Given the description of an element on the screen output the (x, y) to click on. 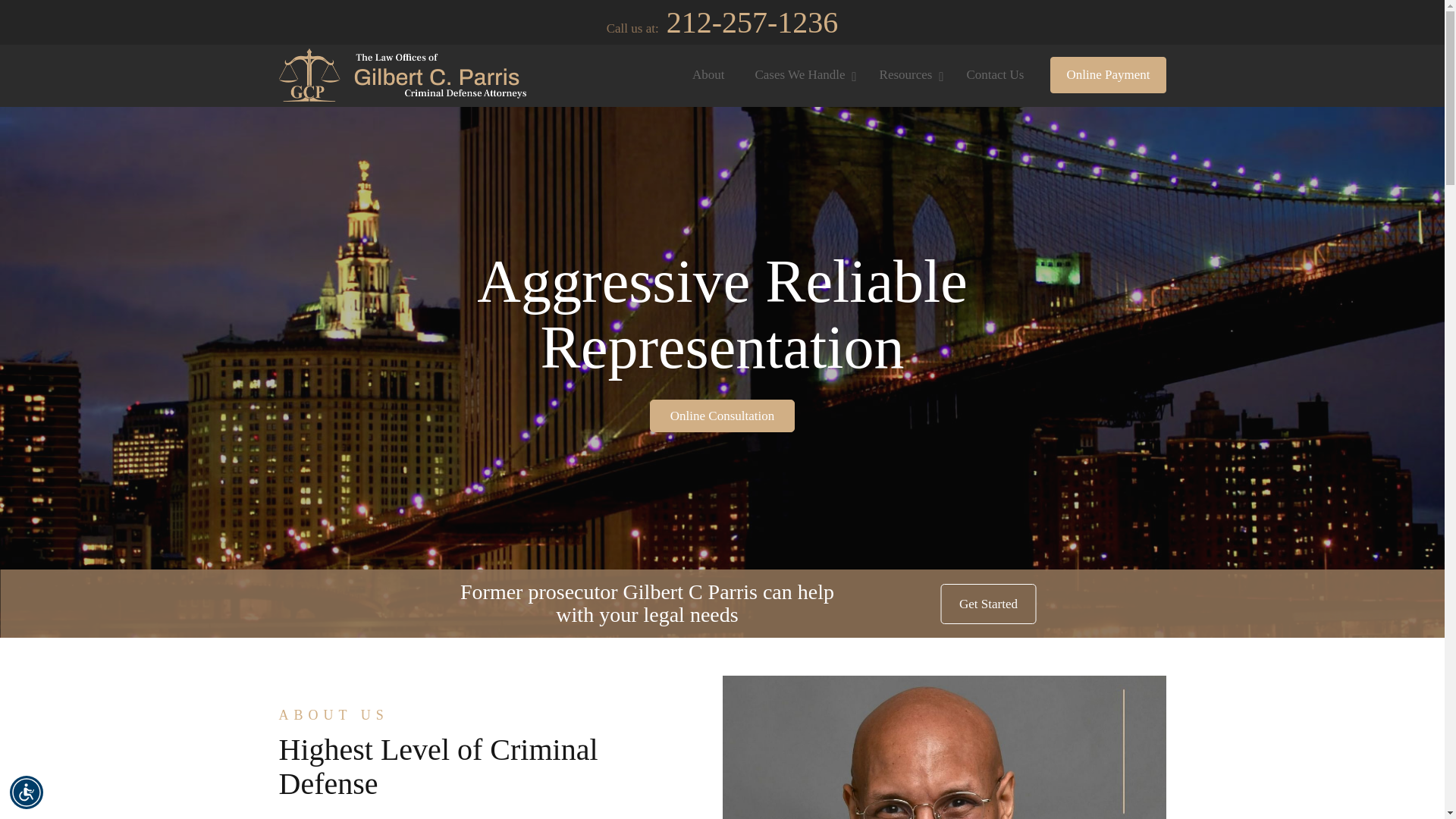
212-257-1236 (752, 21)
About (708, 75)
Accessibility Menu (26, 792)
